Given the description of an element on the screen output the (x, y) to click on. 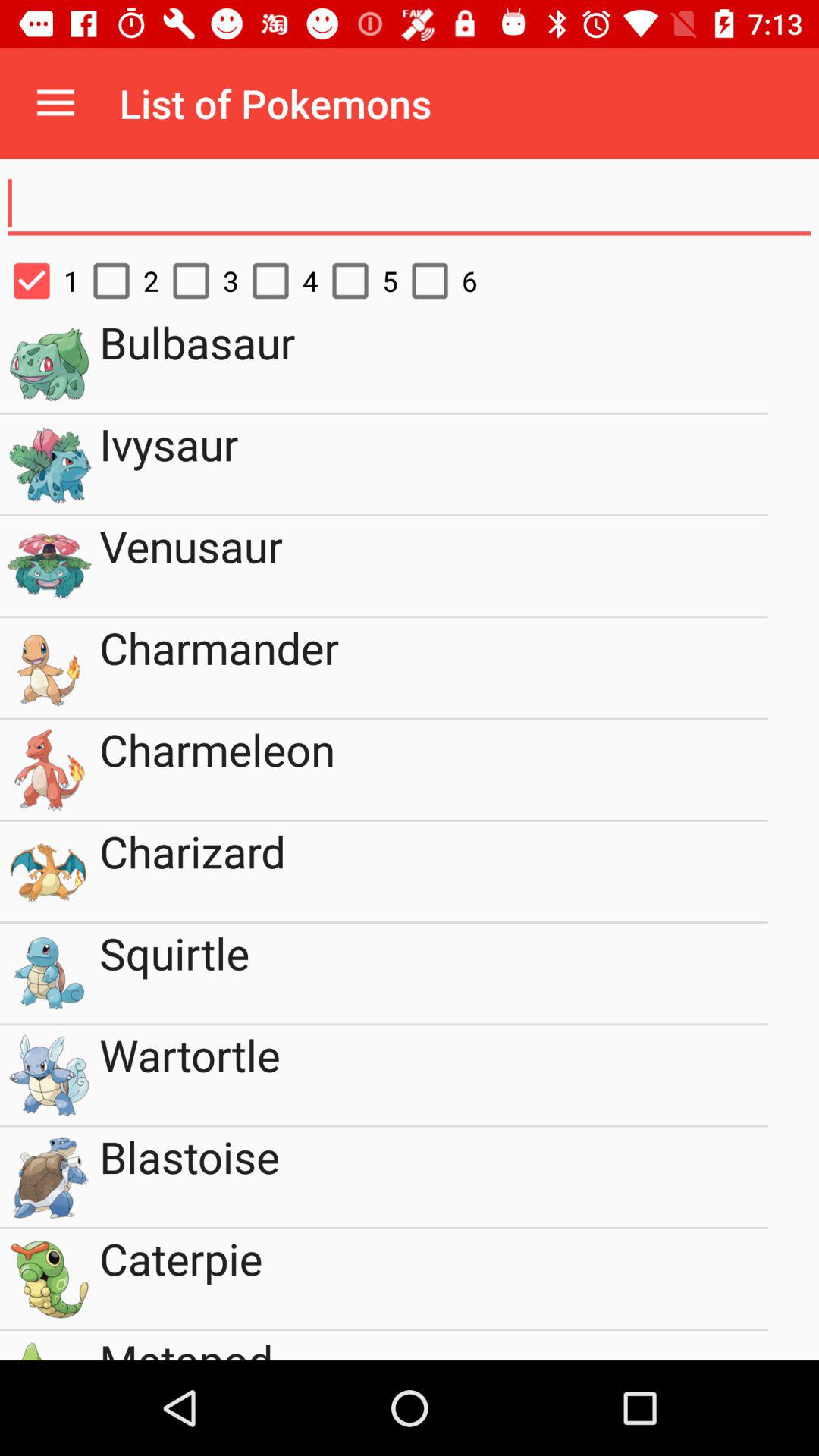
swipe until the charmander item (433, 667)
